Given the description of an element on the screen output the (x, y) to click on. 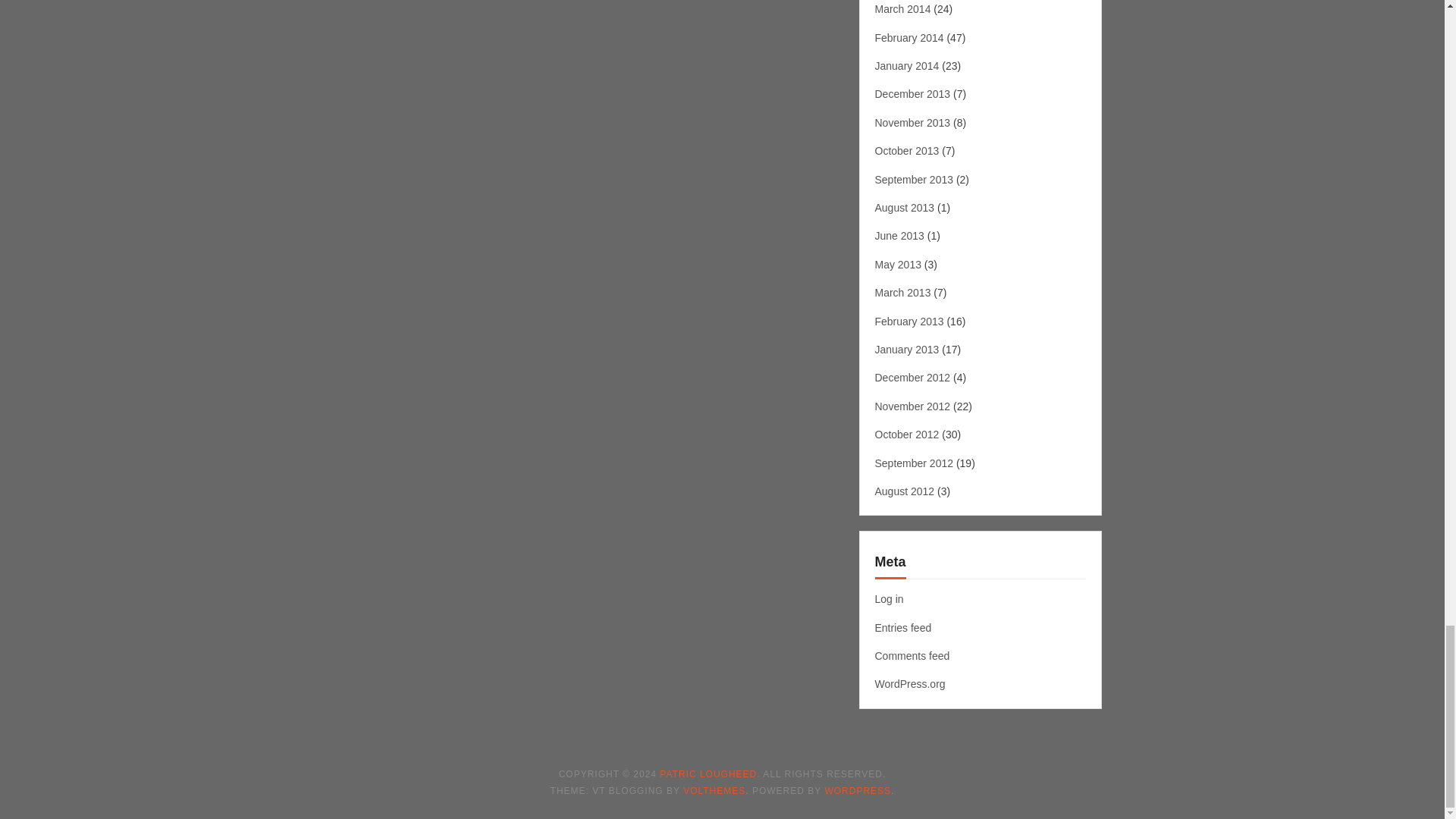
VolThemes (713, 790)
Patric Lougheed (708, 774)
WordPress (857, 790)
